Given the description of an element on the screen output the (x, y) to click on. 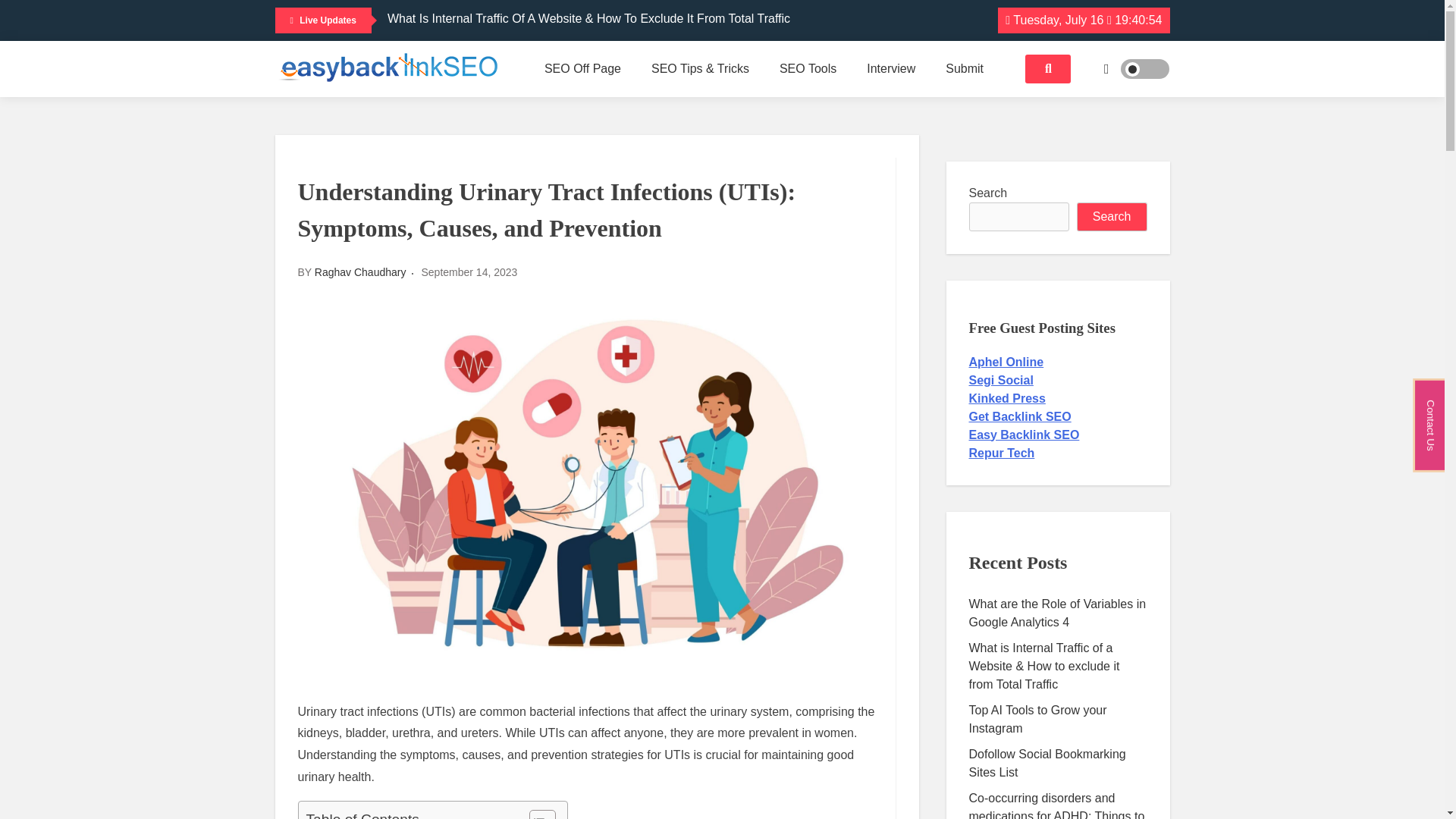
Top AI Tools To Grow Your Instagram (486, 39)
SEO Tools (807, 68)
Business Listing (605, 113)
Submit (964, 68)
Interview (890, 68)
SEO Off Page (582, 68)
September 14, 2023 (468, 272)
Social Bookmarking Sites (605, 122)
Easy Backlinks SEO (377, 105)
SEO Update (839, 113)
Raghav Chaudhary (360, 272)
